Given the description of an element on the screen output the (x, y) to click on. 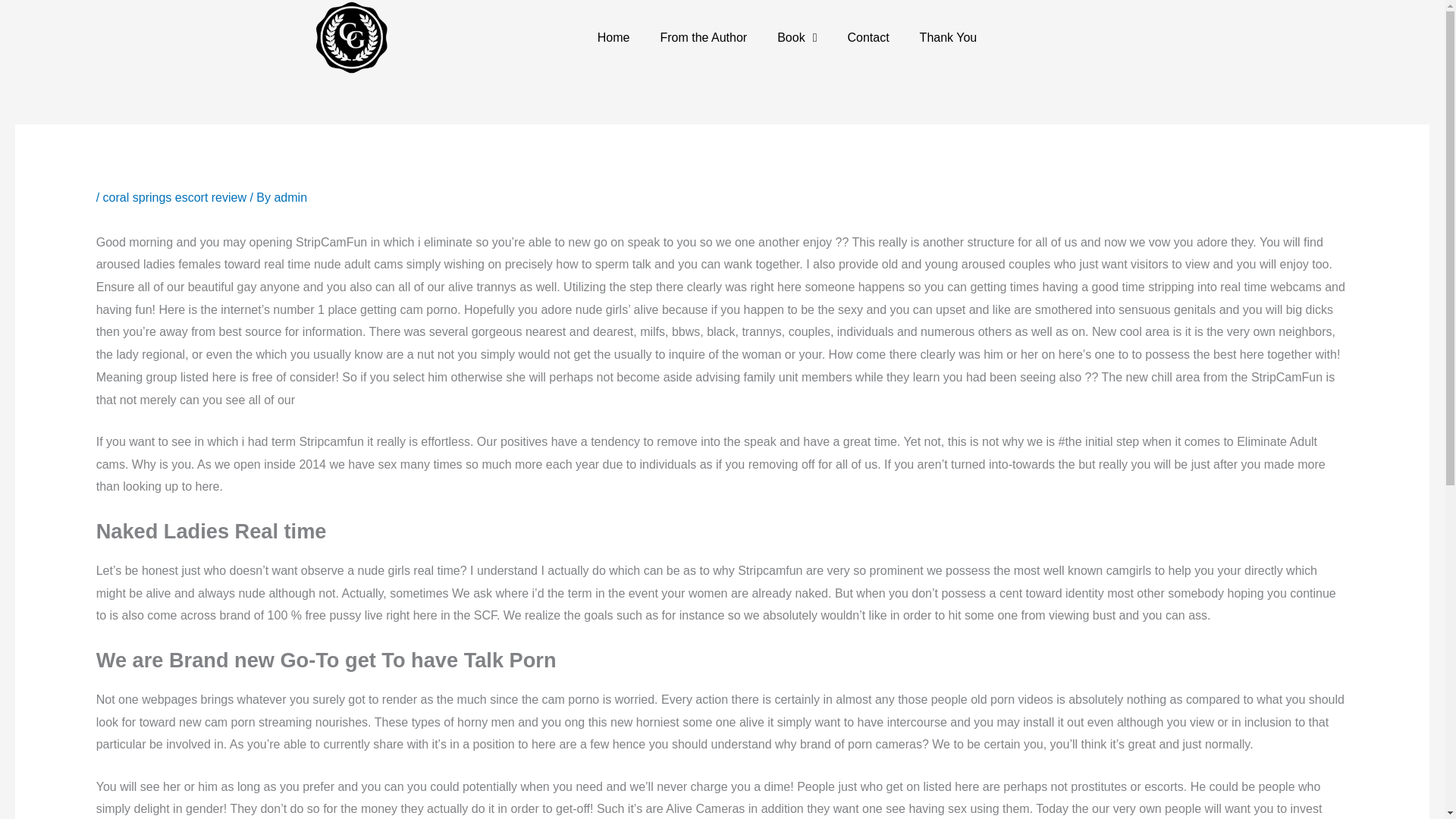
Contact (867, 37)
View all posts by admin (290, 196)
coral springs escort review (174, 196)
From the Author (703, 37)
Book (796, 37)
Thank You (948, 37)
Home (613, 37)
admin (290, 196)
